Given the description of an element on the screen output the (x, y) to click on. 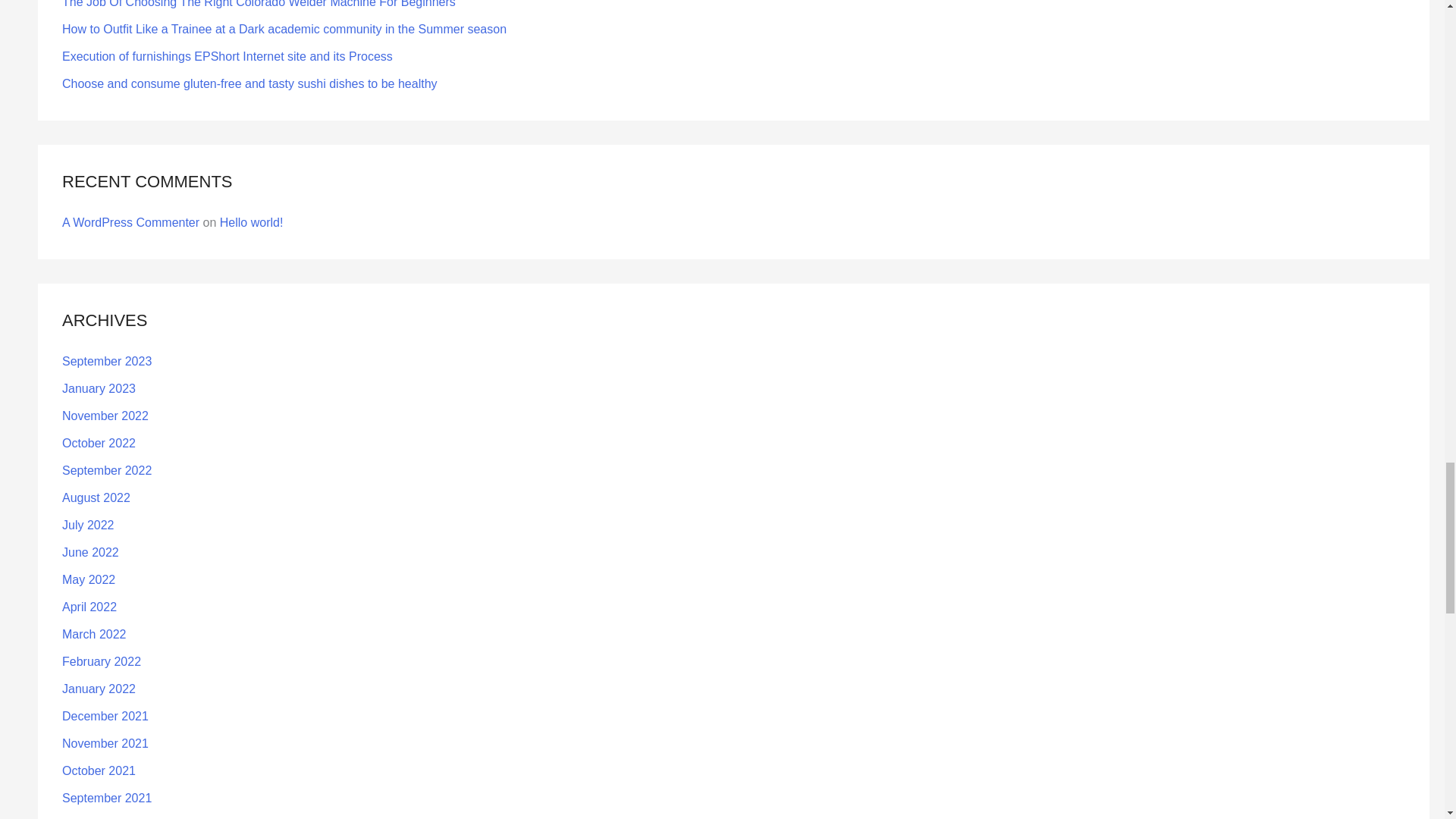
April 2022 (89, 606)
July 2022 (88, 524)
March 2022 (94, 634)
August 2022 (96, 497)
May 2022 (88, 579)
September 2022 (106, 470)
November 2022 (105, 415)
June 2022 (90, 552)
